Given the description of an element on the screen output the (x, y) to click on. 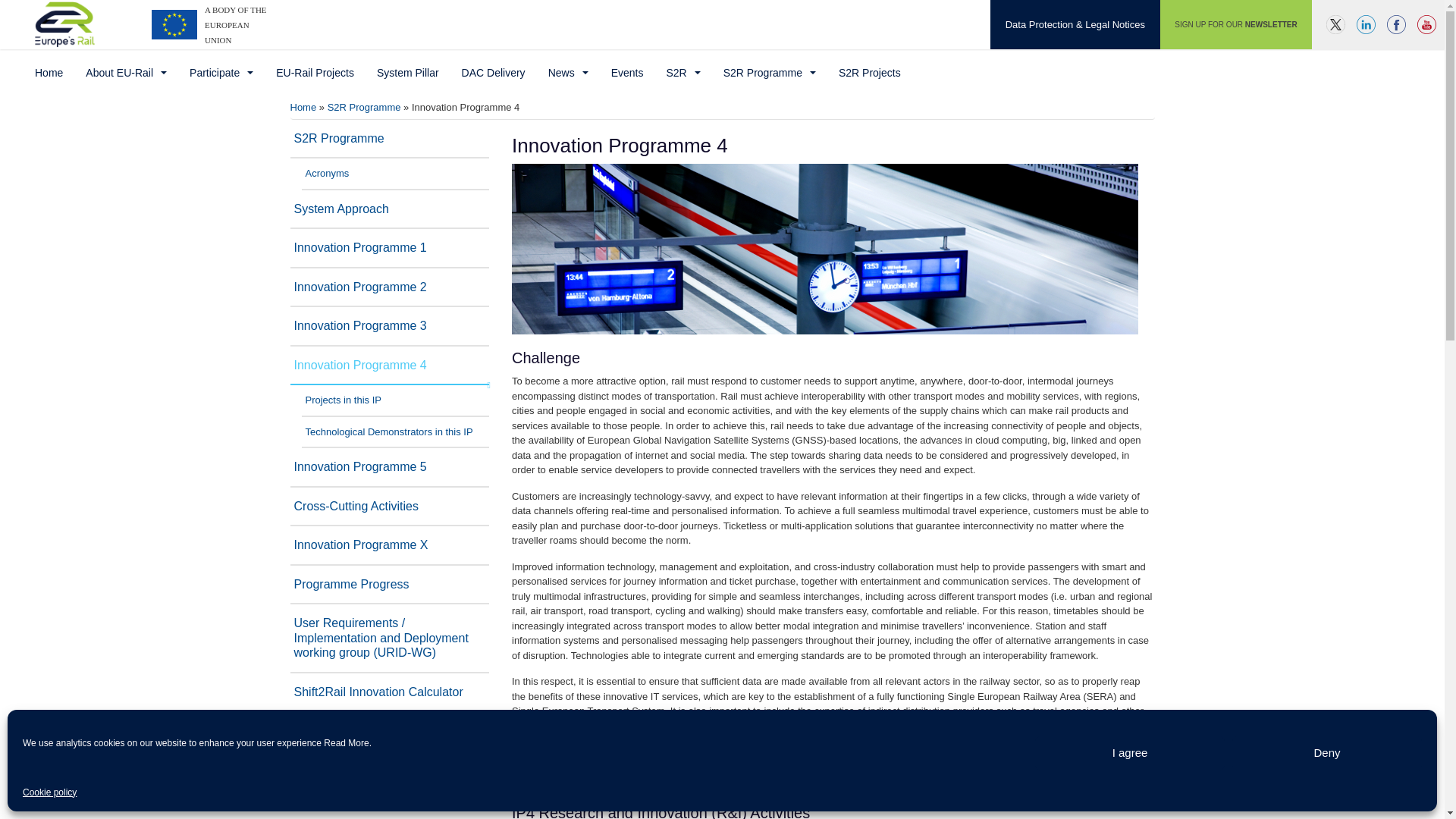
SIGN UP FOR OUR NEWSLETTER (1235, 24)
About EU-Rail (126, 72)
I agree (1129, 752)
Participate (221, 72)
Home (48, 72)
Cookie policy (50, 792)
Read More (345, 742)
Deny (1326, 752)
Home (48, 72)
Participate (221, 72)
